Given the description of an element on the screen output the (x, y) to click on. 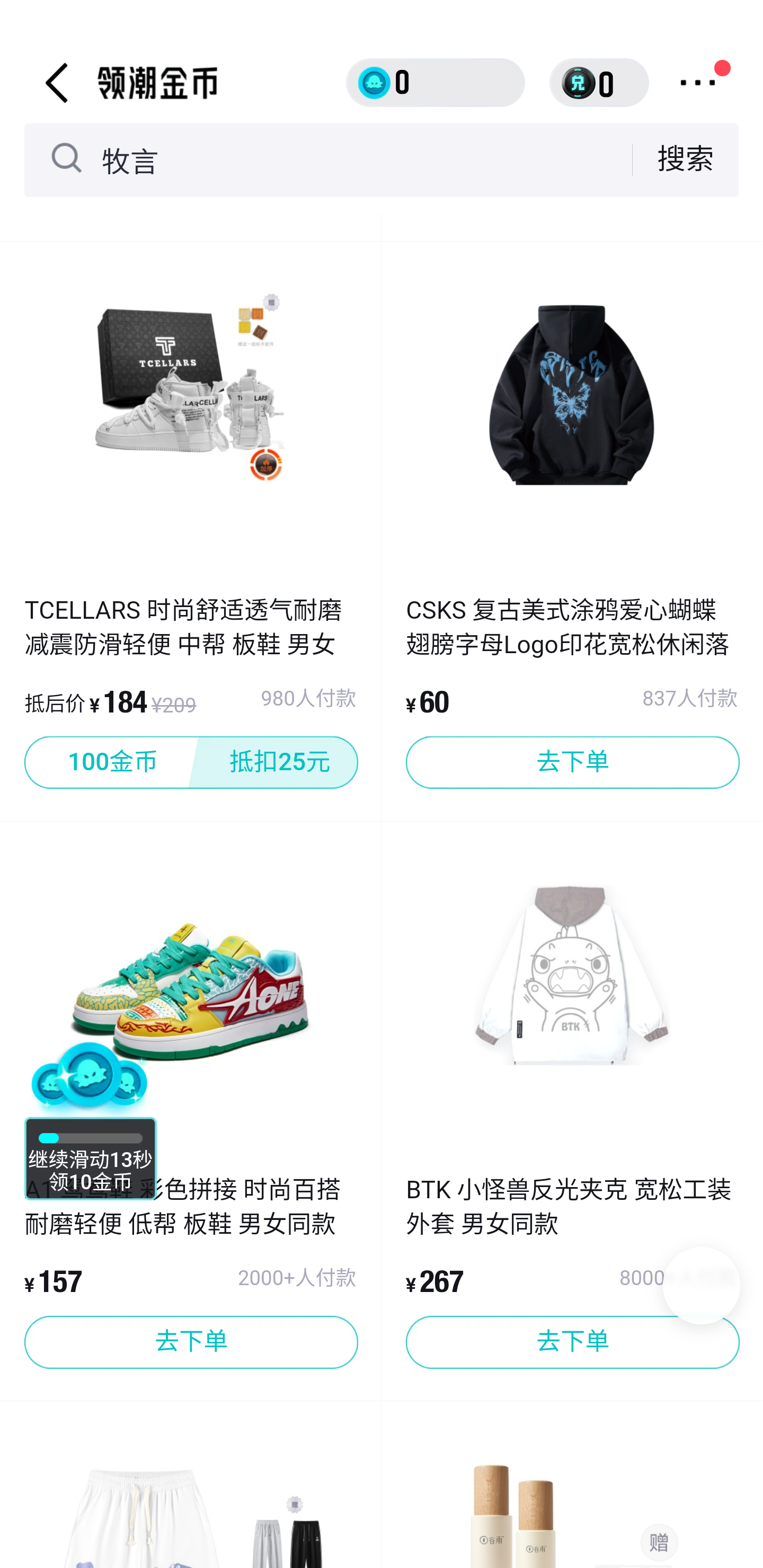
搜索 (685, 159)
100金币 抵扣25元 (190, 762)
去下单 (572, 762)
BTK 小怪兽反光夹克 宽松工装外套 男女同款 ¥ 267 8000+人付款 去下单 (572, 1271)
去下单 (190, 1341)
去下单 (572, 1341)
